Given the description of an element on the screen output the (x, y) to click on. 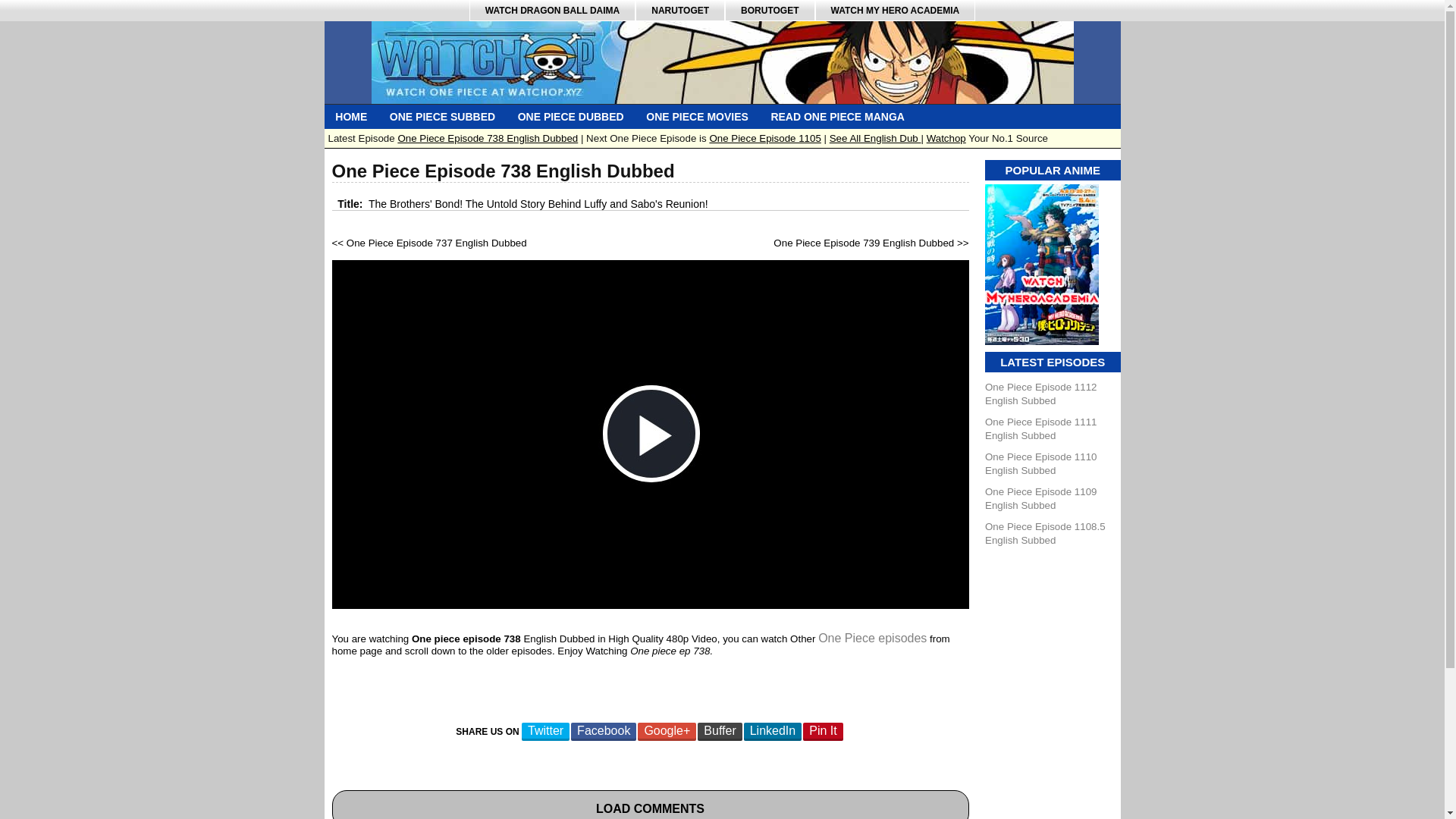
Pin It (823, 731)
Home (351, 116)
ONE PIECE DUBBED (570, 116)
Facebook (603, 731)
Naruto (679, 10)
Dragon Ball Super (552, 10)
One Piece Episode 1105 (765, 138)
WATCH MY HERO ACADEMIA (895, 10)
Watchop (946, 138)
See All English Dub (875, 138)
NARUTOGET (679, 10)
One Piece English Dubbed (570, 116)
One Piece Episode 1110 English Subbed (1040, 463)
One Piece English Subbed (442, 116)
WATCH DRAGON BALL DAIMA (552, 10)
